Given the description of an element on the screen output the (x, y) to click on. 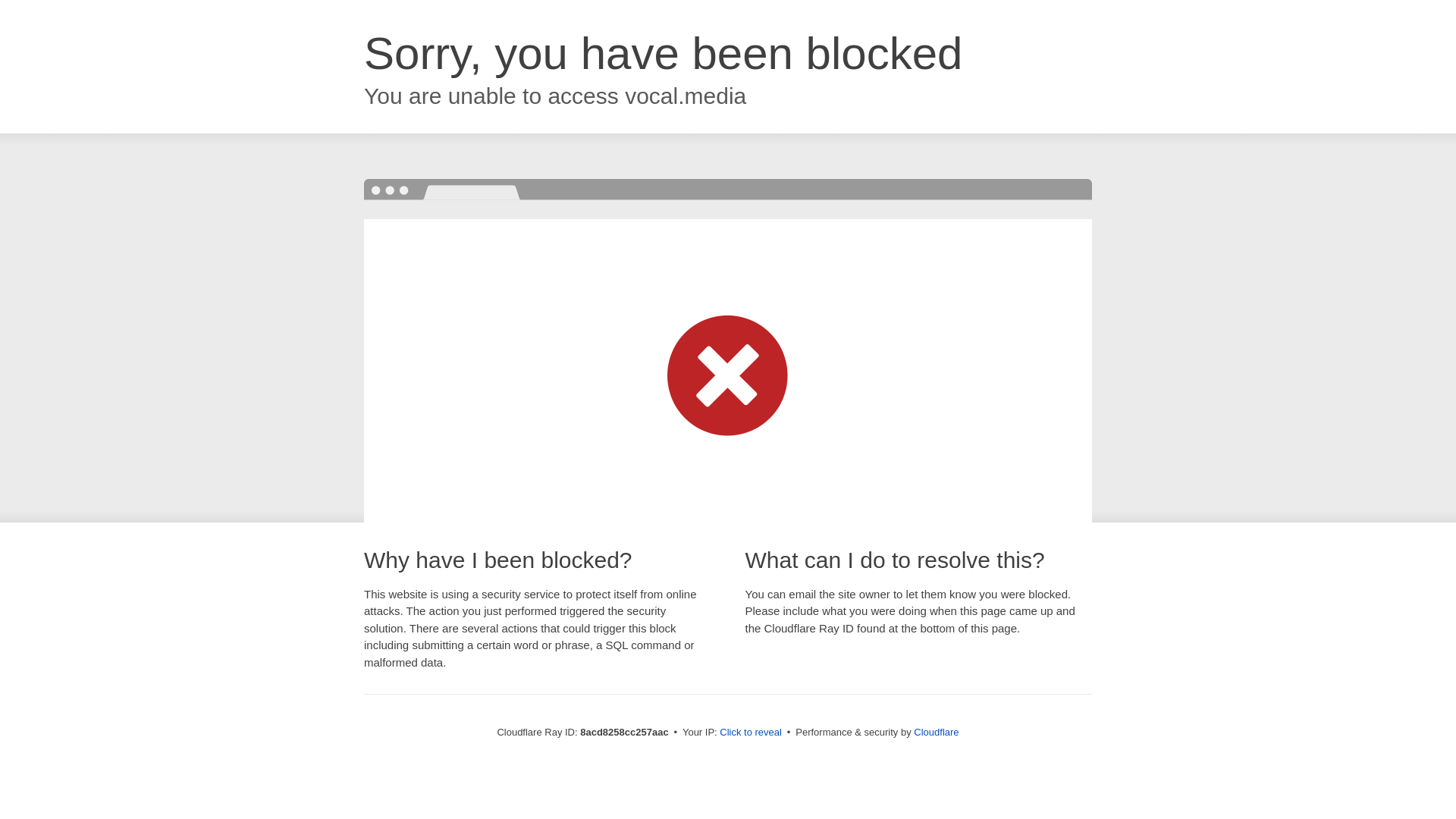
Cloudflare (936, 731)
Click to reveal (750, 732)
